Given the description of an element on the screen output the (x, y) to click on. 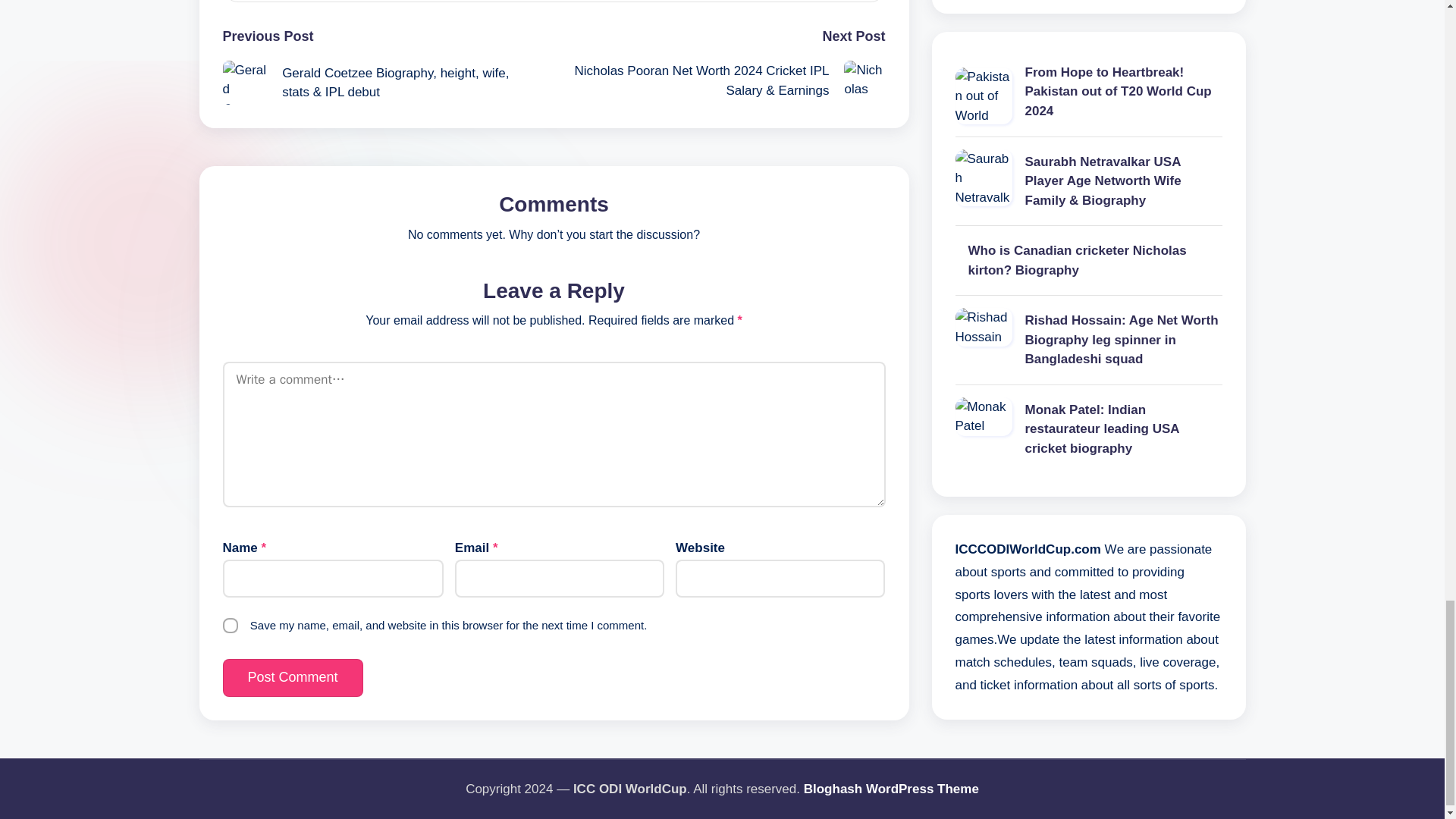
yes (230, 625)
Post Comment (292, 677)
